Given the description of an element on the screen output the (x, y) to click on. 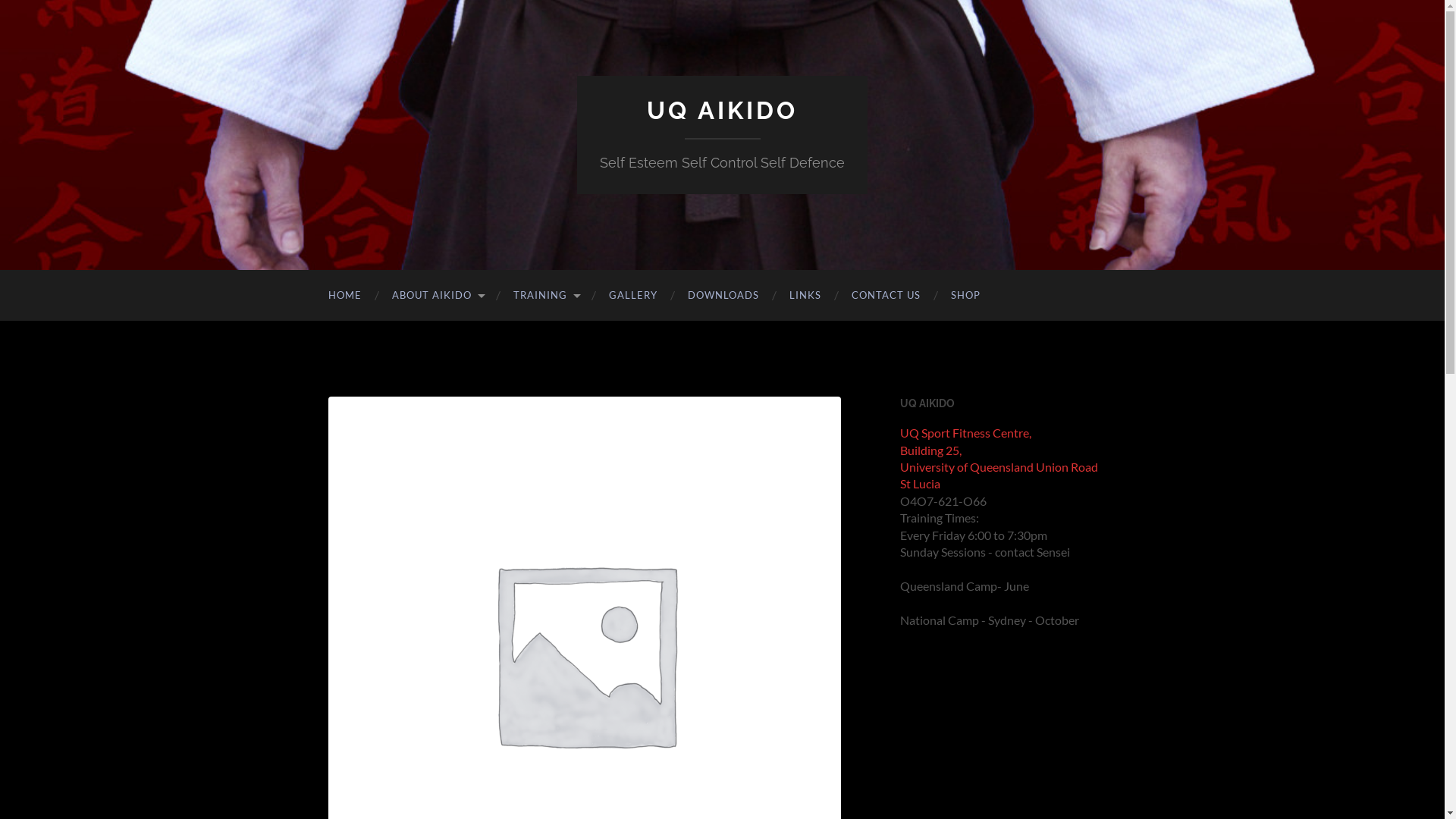
GALLERY Element type: text (632, 294)
HOME Element type: text (344, 294)
UQ AIKIDO Element type: text (721, 110)
CONTACT US Element type: text (885, 294)
LINKS Element type: text (804, 294)
TRAINING Element type: text (545, 294)
ABOUT AIKIDO Element type: text (436, 294)
DOWNLOADS Element type: text (722, 294)
SHOP Element type: text (965, 294)
